Given the description of an element on the screen output the (x, y) to click on. 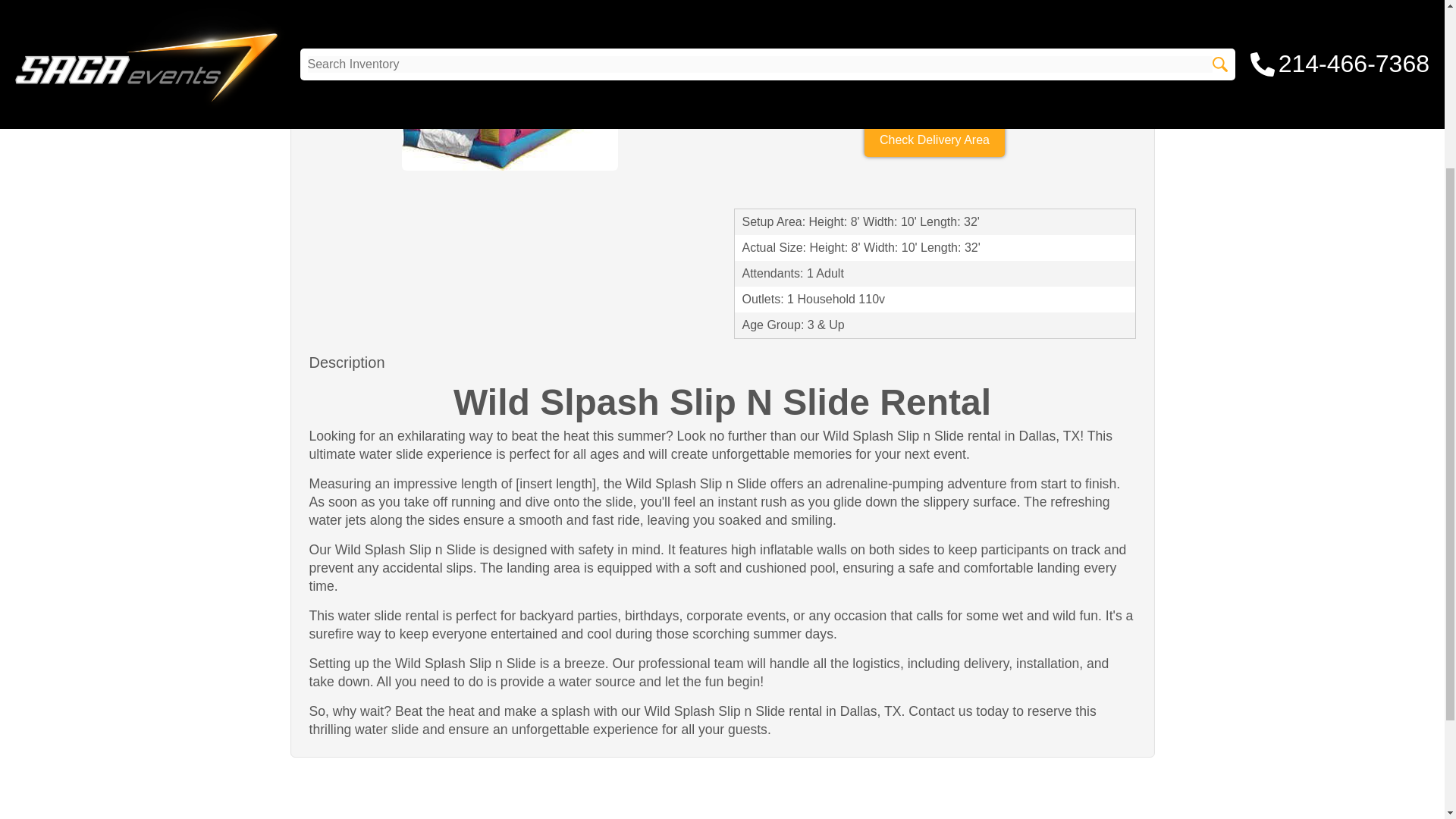
Check Delivery Area (934, 140)
Wild Splash Slip n Slide (509, 103)
